Given the description of an element on the screen output the (x, y) to click on. 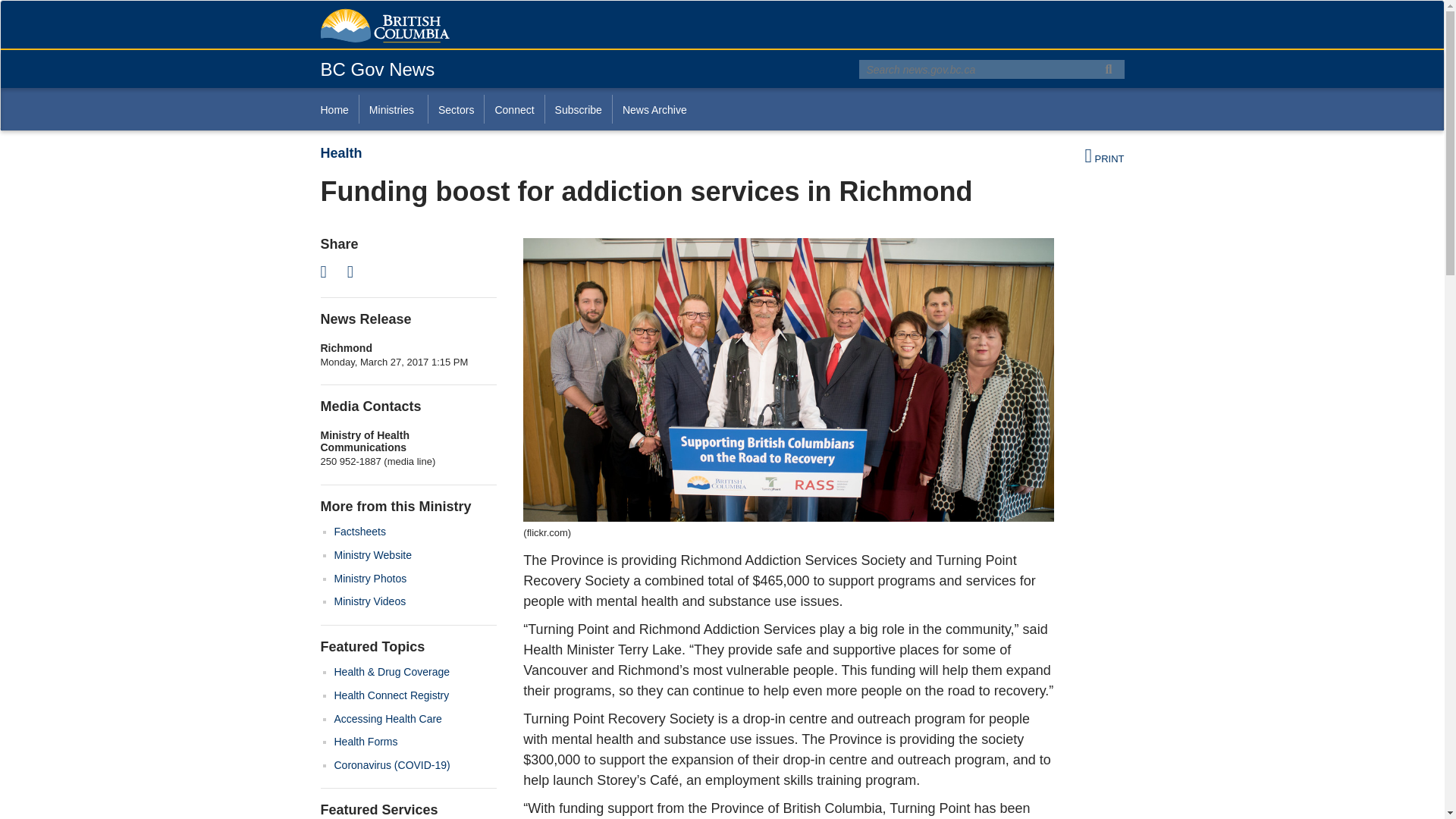
Home (339, 109)
News Archive (654, 109)
BC Gov News (376, 68)
Government of B.C. (384, 25)
Subscribe (577, 109)
Connect (513, 109)
Sectors (455, 109)
Ministries (393, 109)
